Given the description of an element on the screen output the (x, y) to click on. 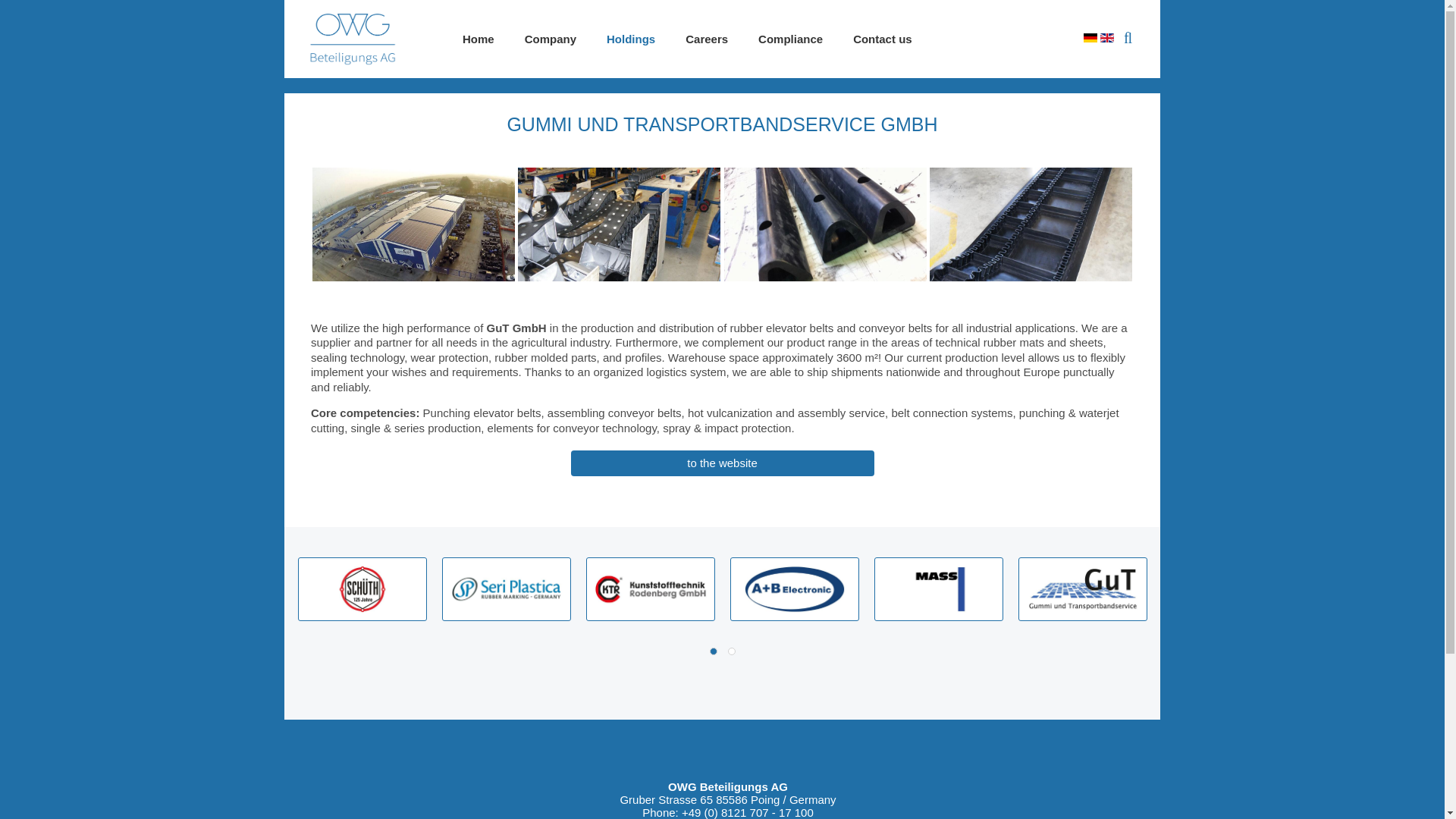
Compliance (790, 38)
Careers (705, 38)
Holdings (630, 38)
Home (477, 38)
Company (550, 38)
Deutsch (1089, 37)
Contact us (882, 38)
to the website (721, 462)
